Given the description of an element on the screen output the (x, y) to click on. 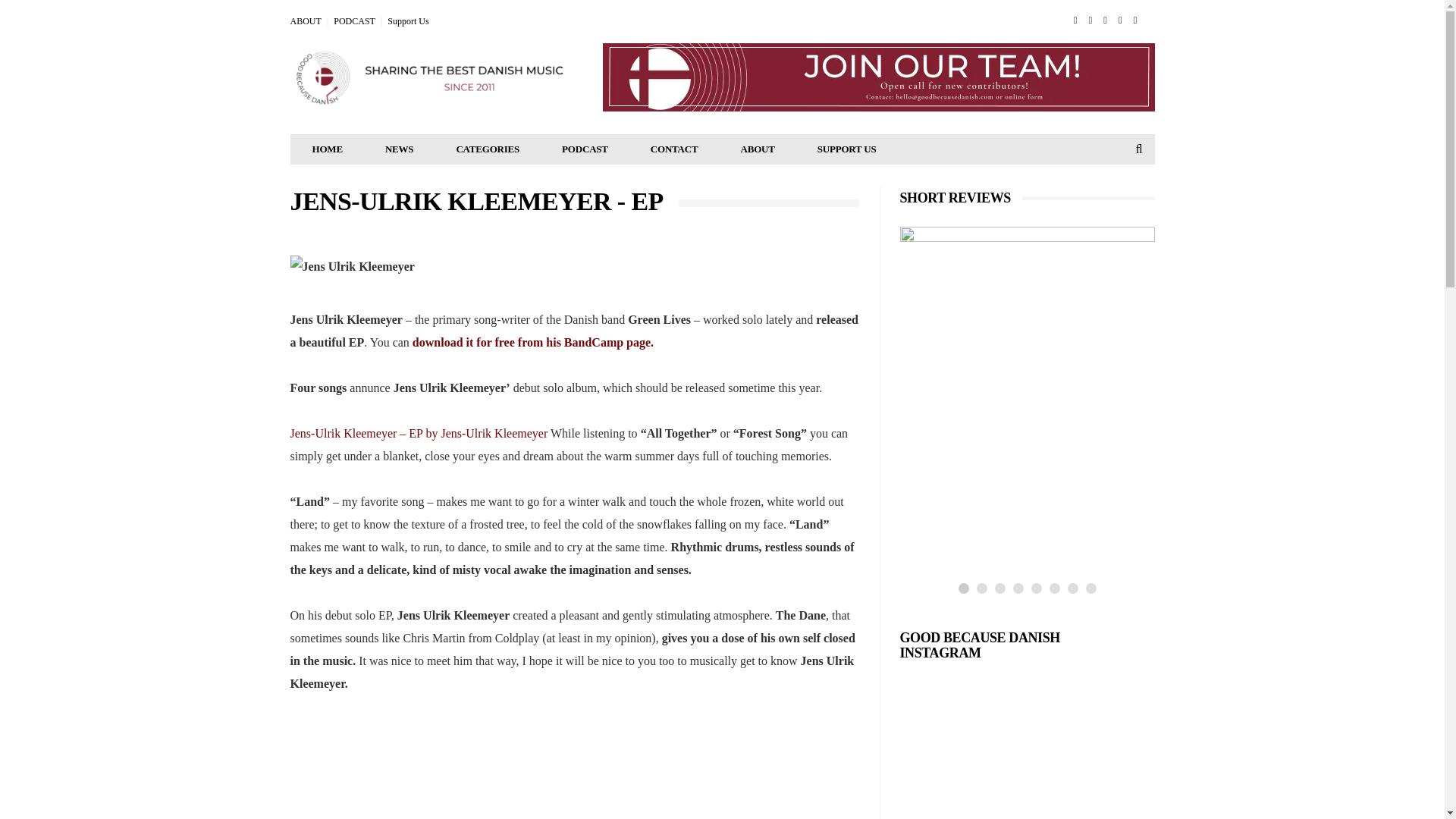
CONTACT (673, 149)
SUPPORT US (847, 149)
NEWS (399, 149)
PODCAST (354, 20)
Support Us (407, 20)
PODCAST (584, 149)
ABOUT (756, 149)
CATEGORIES (486, 149)
download it for free from his BandCamp page. (532, 341)
HOME (327, 149)
